Given the description of an element on the screen output the (x, y) to click on. 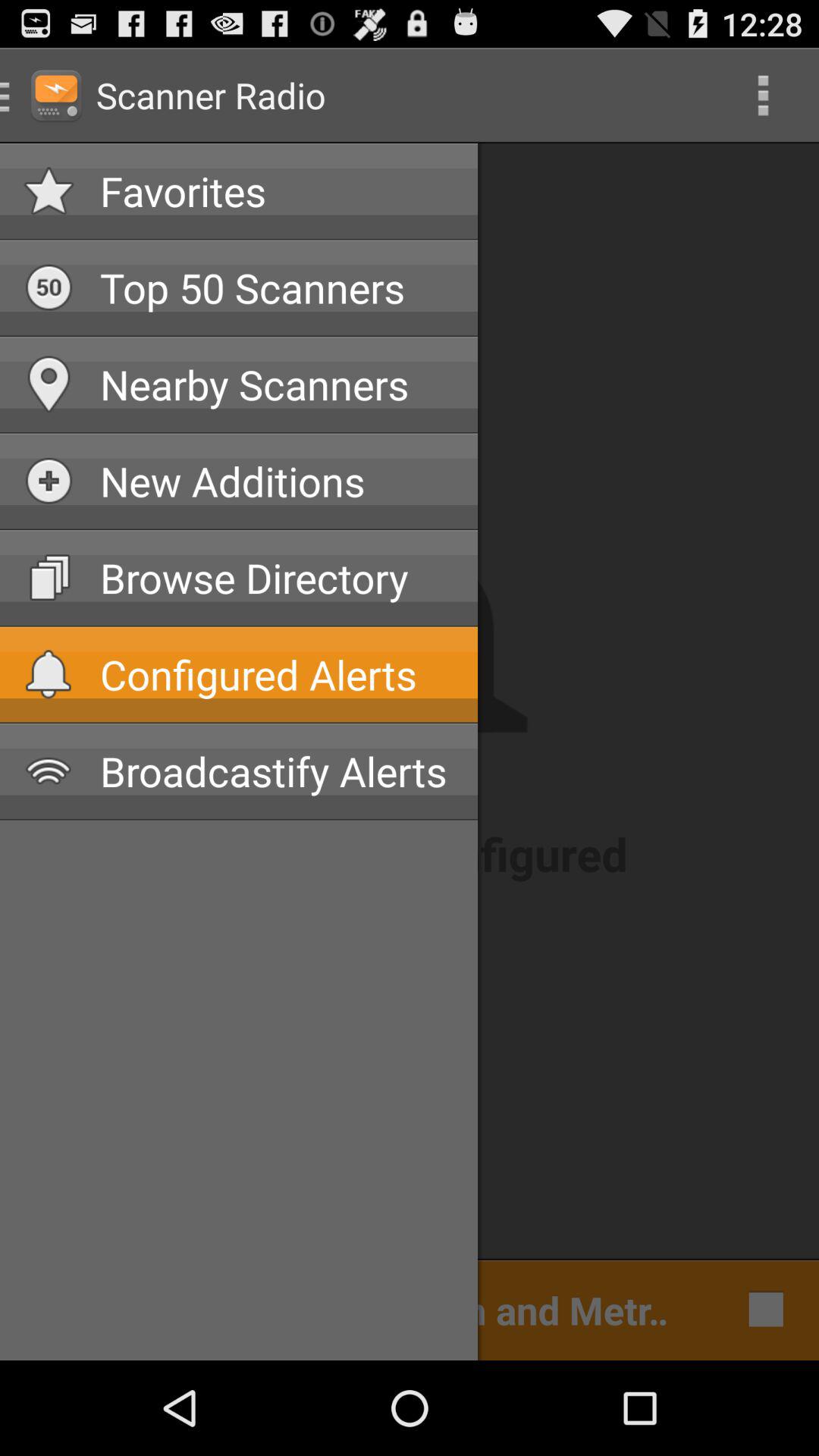
tap the new additions (276, 480)
